Given the description of an element on the screen output the (x, y) to click on. 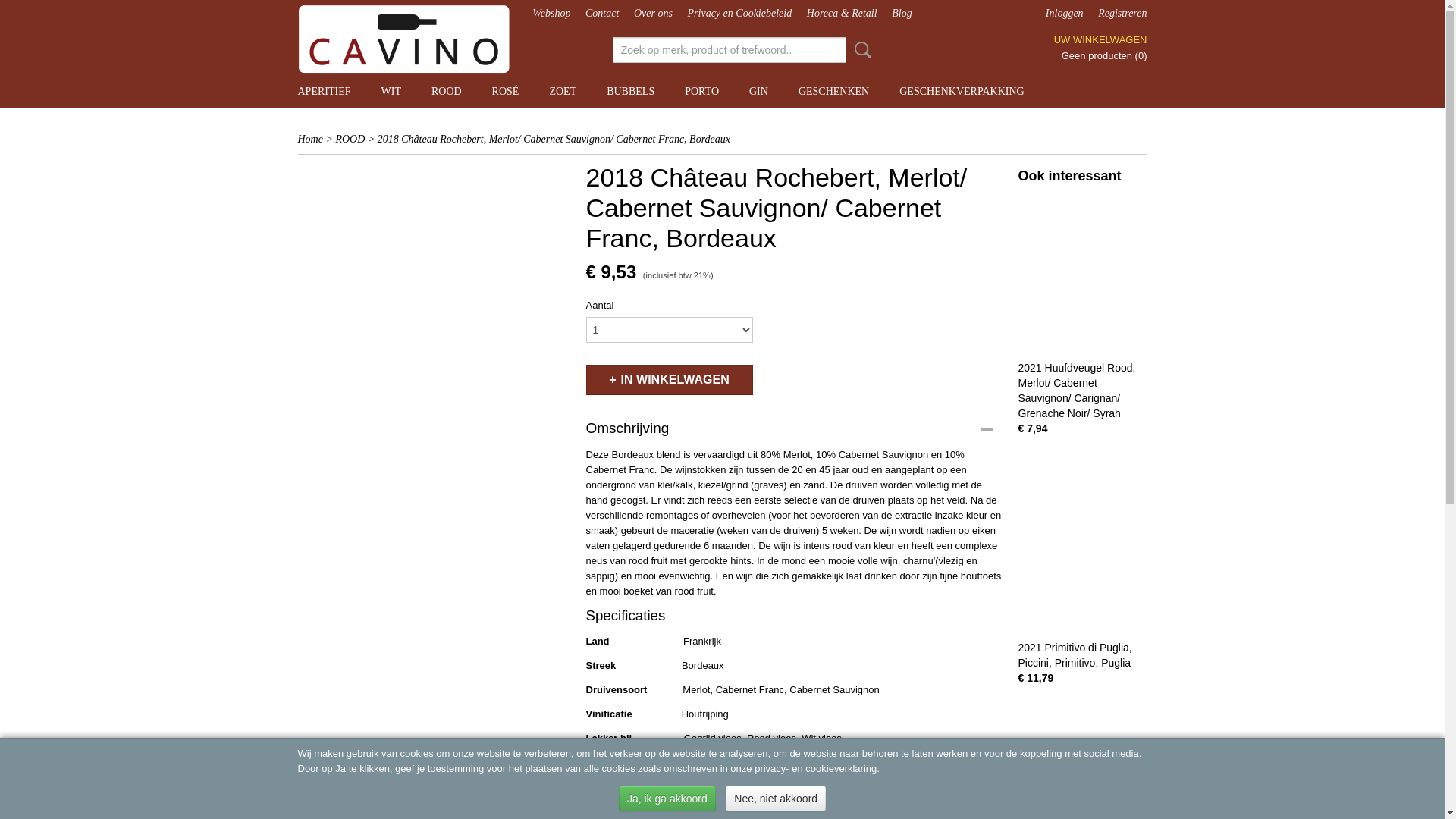
Home Element type: text (309, 138)
Registreren Element type: text (1122, 12)
Rochebert roos Element type: hover (433, 168)
GESCHENKVERPAKKING Element type: text (961, 91)
WIT Element type: text (390, 91)
Privacy en Cookiebeleid Element type: text (739, 12)
ROOD Element type: text (446, 91)
Blog Element type: text (901, 12)
BUBBELS Element type: text (630, 91)
Inloggen Element type: text (1064, 12)
Ja, ik ga akkoord Element type: text (666, 798)
GIN Element type: text (758, 91)
Horeca & Retail Element type: text (841, 12)
Nee, niet akkoord Element type: text (775, 798)
GESCHENKEN Element type: text (833, 91)
APERITIEF Element type: text (323, 91)
Zoeken Element type: text (859, 49)
2021 Primitivo di Puglia, Piccini, Primitivo, Puglia Element type: text (1074, 654)
UW WINKELWAGEN Element type: text (1100, 39)
ROOD Element type: text (349, 138)
IN WINKELWAGEN Element type: text (668, 379)
Over ons Element type: text (652, 12)
Contact Element type: text (601, 12)
ZOET Element type: text (562, 91)
Webshop Element type: text (551, 12)
PORTO Element type: text (701, 91)
